Given the description of an element on the screen output the (x, y) to click on. 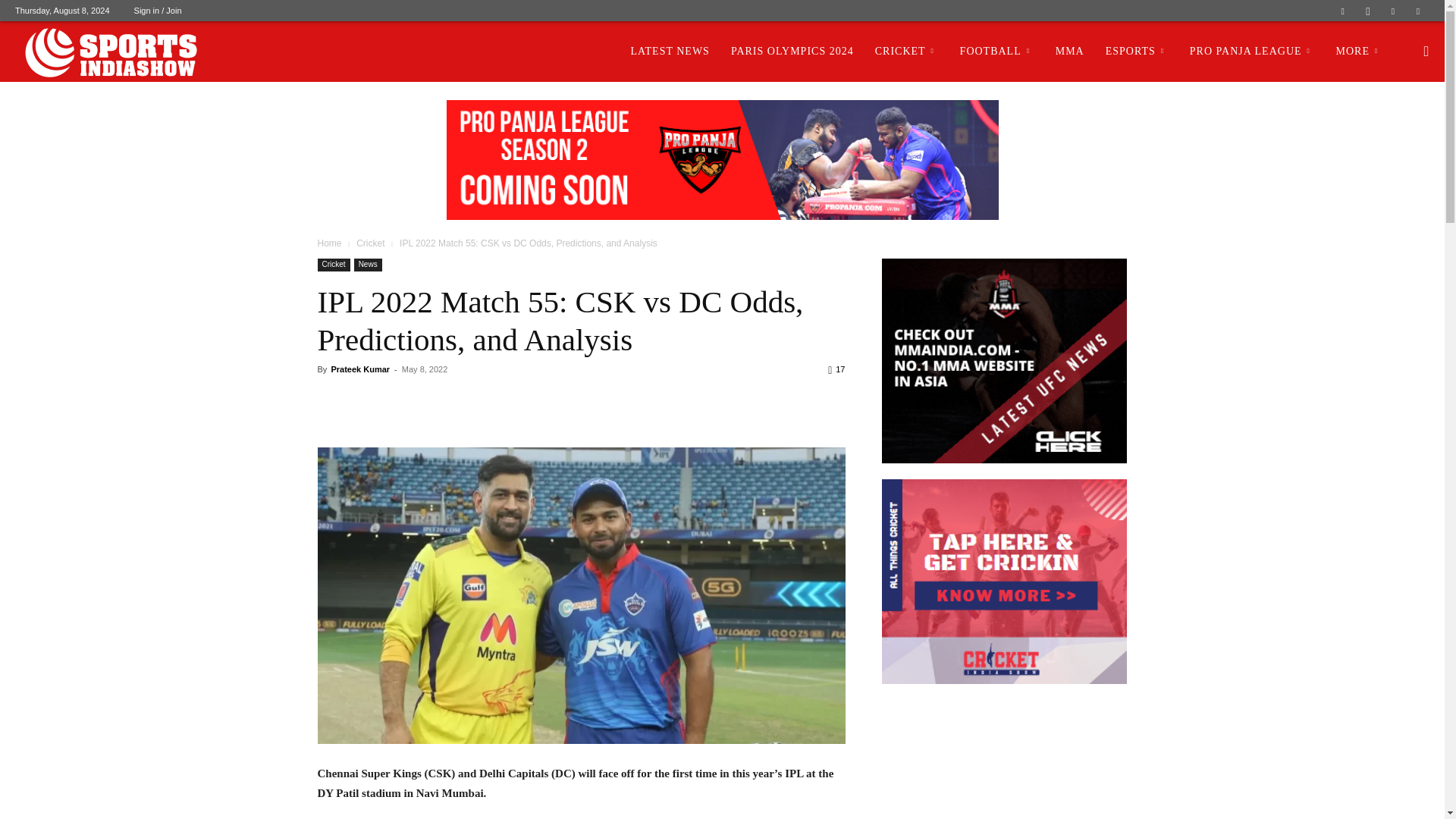
Facebook (1343, 10)
Youtube (1417, 10)
Twitter (1393, 10)
Instagram (1367, 10)
